Given the description of an element on the screen output the (x, y) to click on. 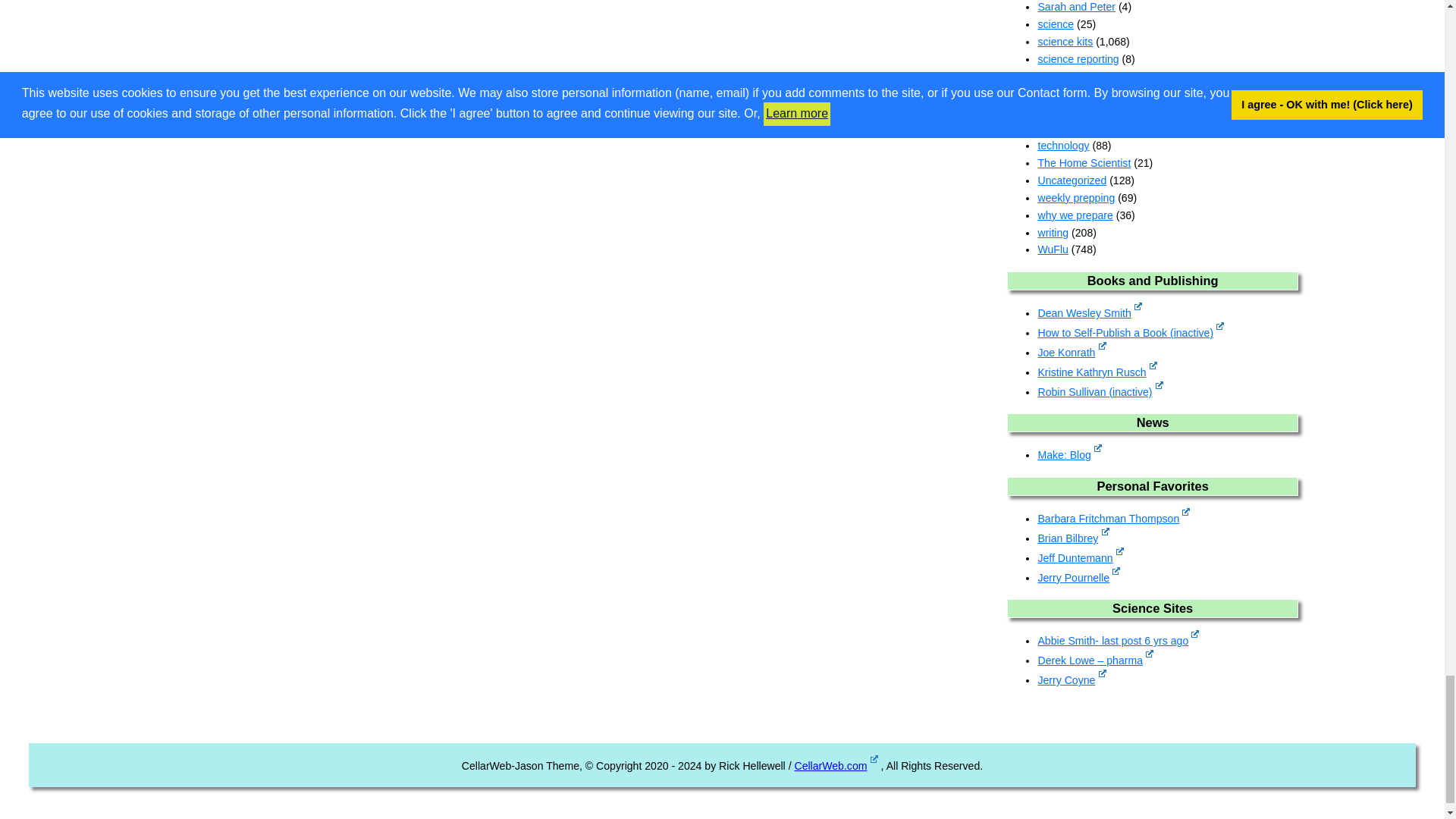
CellarWeb.com (835, 766)
Last updated 5 yrs ago (1130, 332)
Writer site, comments about publishing industry (1070, 352)
Personal blog (1072, 538)
commentary on drug discovery and the pharma industry (1094, 660)
